Given the description of an element on the screen output the (x, y) to click on. 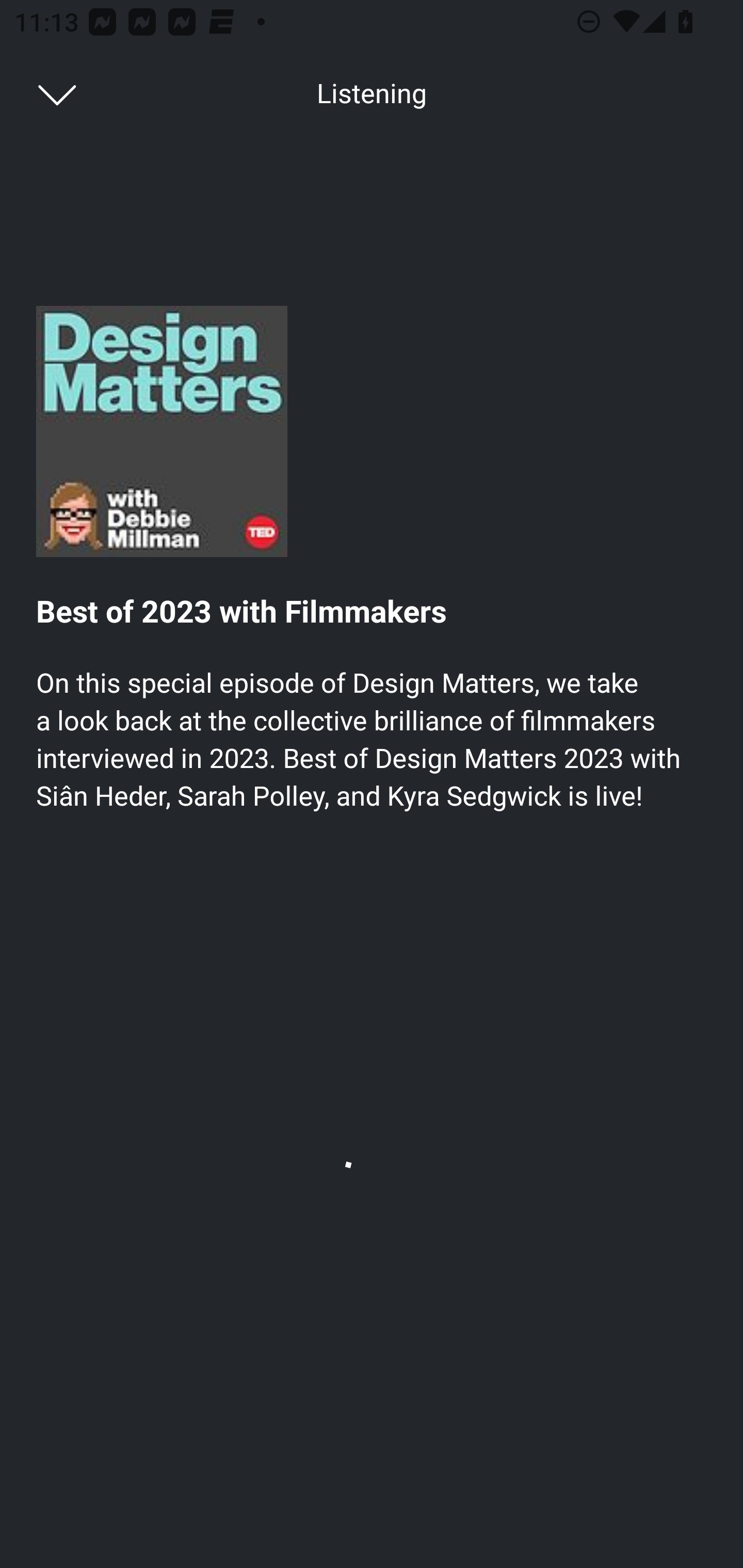
Listening (371, 93)
TED Podcasts, back (47, 92)
